Given the description of an element on the screen output the (x, y) to click on. 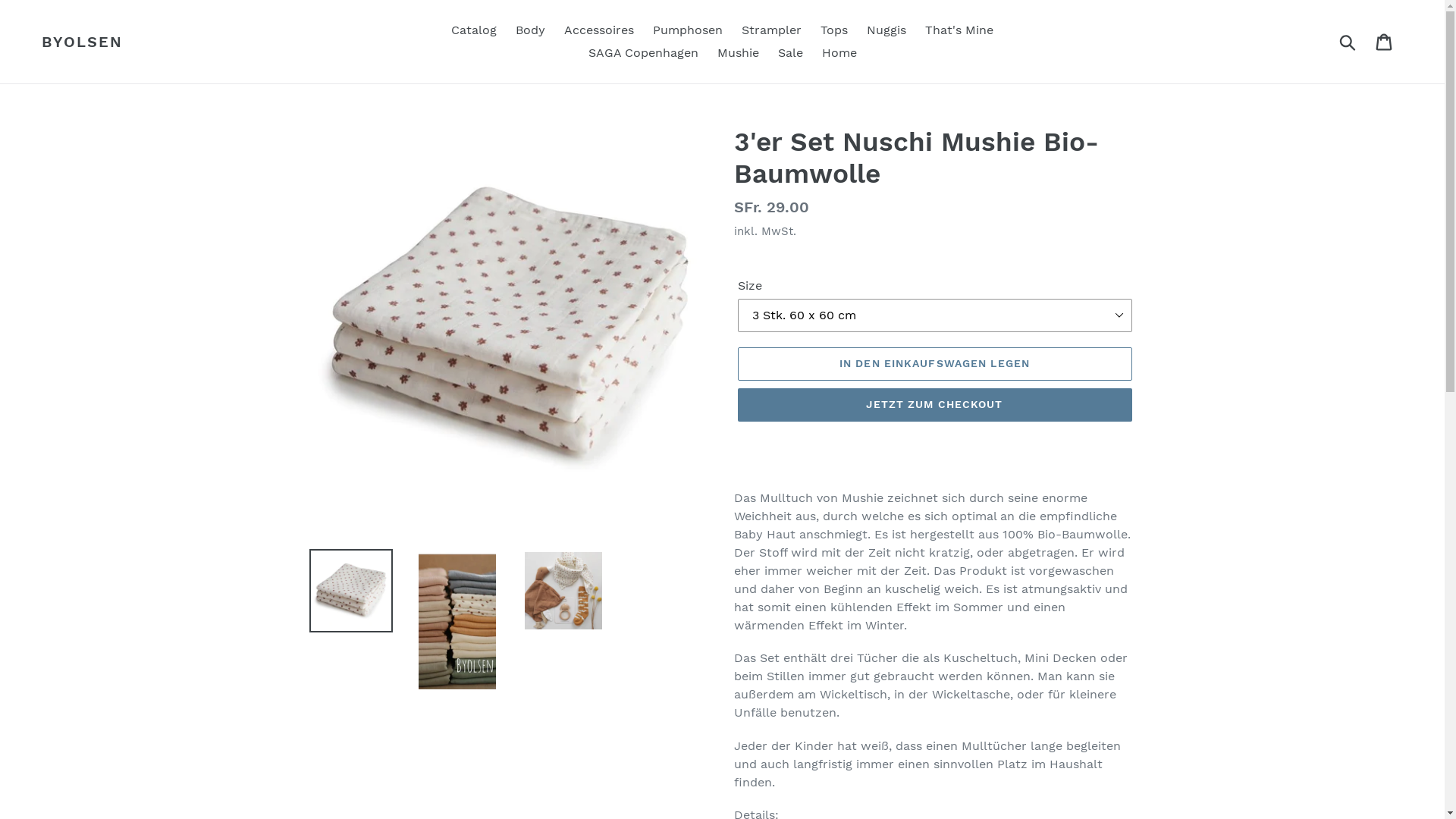
Accessoires Element type: text (598, 29)
BYOLSEN Element type: text (81, 41)
Suchen Element type: text (1348, 41)
Einkaufswagen Element type: text (1384, 42)
Catalog Element type: text (473, 29)
IN DEN EINKAUFSWAGEN LEGEN Element type: text (934, 363)
Mushie Element type: text (737, 52)
Pumphosen Element type: text (687, 29)
Nuggis Element type: text (886, 29)
Sale Element type: text (790, 52)
That's Mine Element type: text (959, 29)
Home Element type: text (839, 52)
Strampler Element type: text (771, 29)
SAGA Copenhagen Element type: text (643, 52)
Body Element type: text (530, 29)
JETZT ZUM CHECKOUT Element type: text (934, 404)
Tops Element type: text (833, 29)
